Given the description of an element on the screen output the (x, y) to click on. 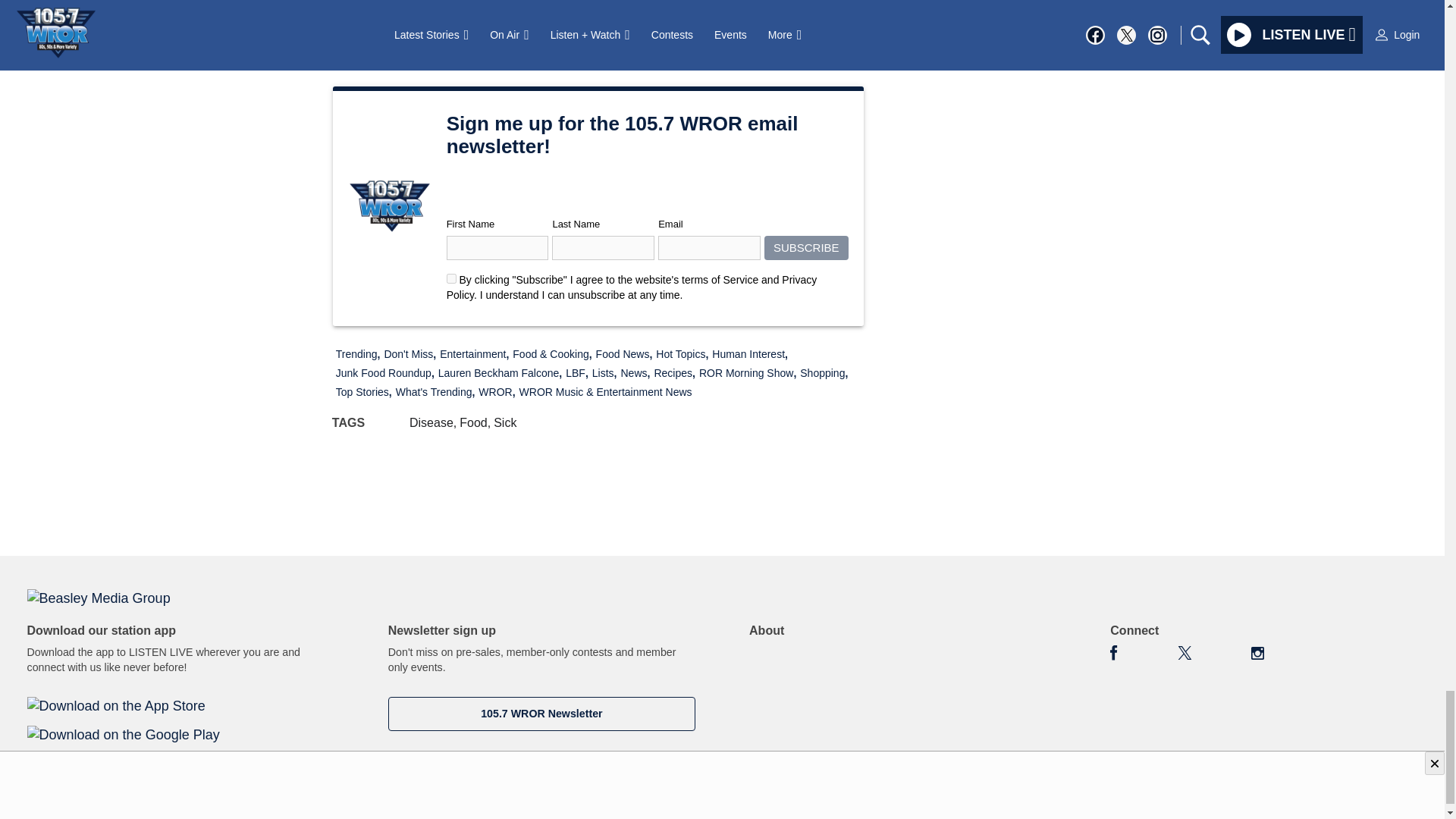
Twitter (1184, 653)
on (451, 278)
Instagram (1256, 653)
